Given the description of an element on the screen output the (x, y) to click on. 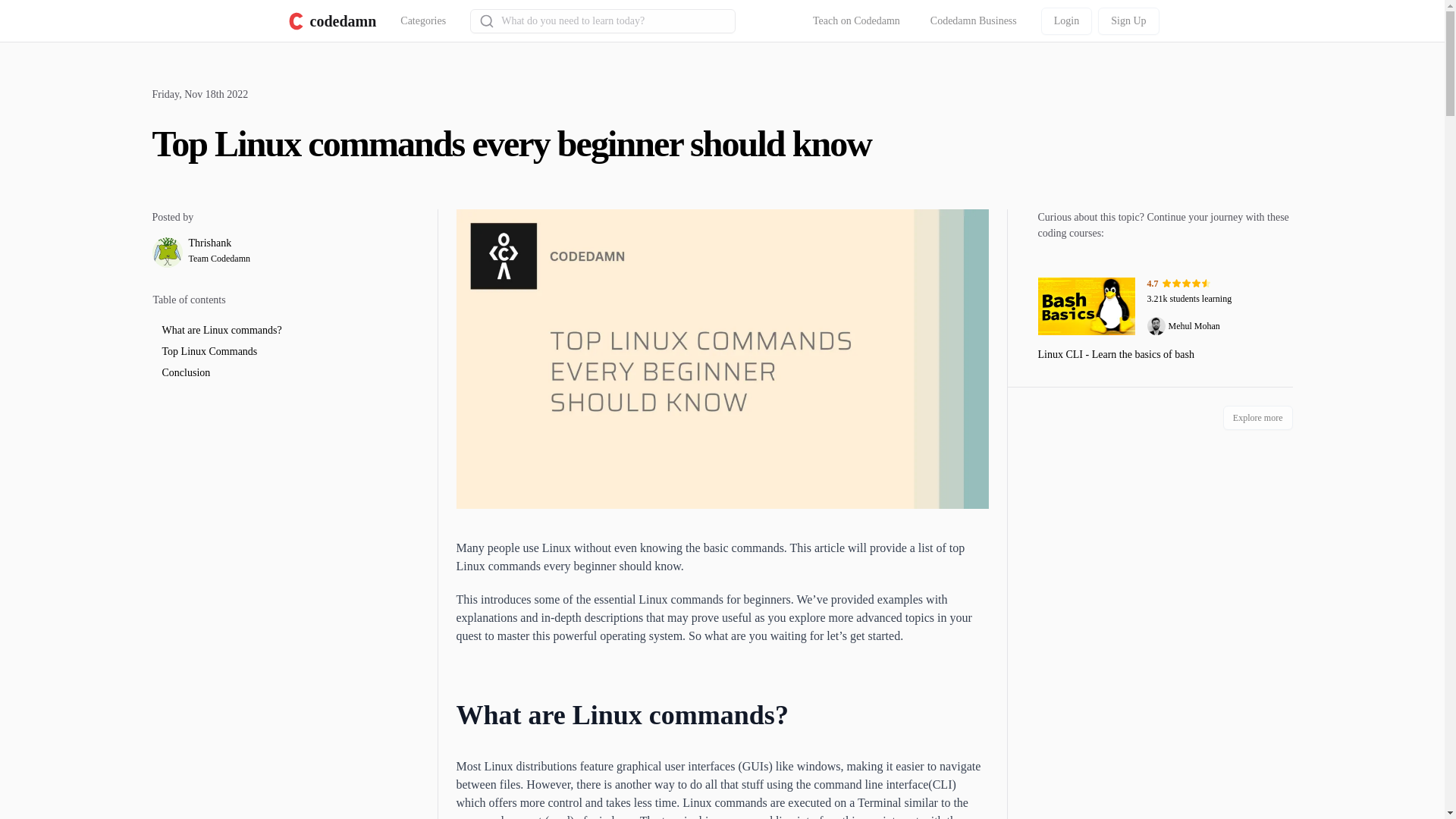
Categories (293, 252)
What are Linux commands? (423, 21)
Teach on Codedamn (295, 330)
Sign Up (856, 21)
Codedamn Business (1127, 21)
Explore more (973, 21)
Login (1257, 416)
codedamn (1066, 21)
Conclusion (330, 20)
Explore more (295, 373)
Top Linux Commands (1257, 417)
